Given the description of an element on the screen output the (x, y) to click on. 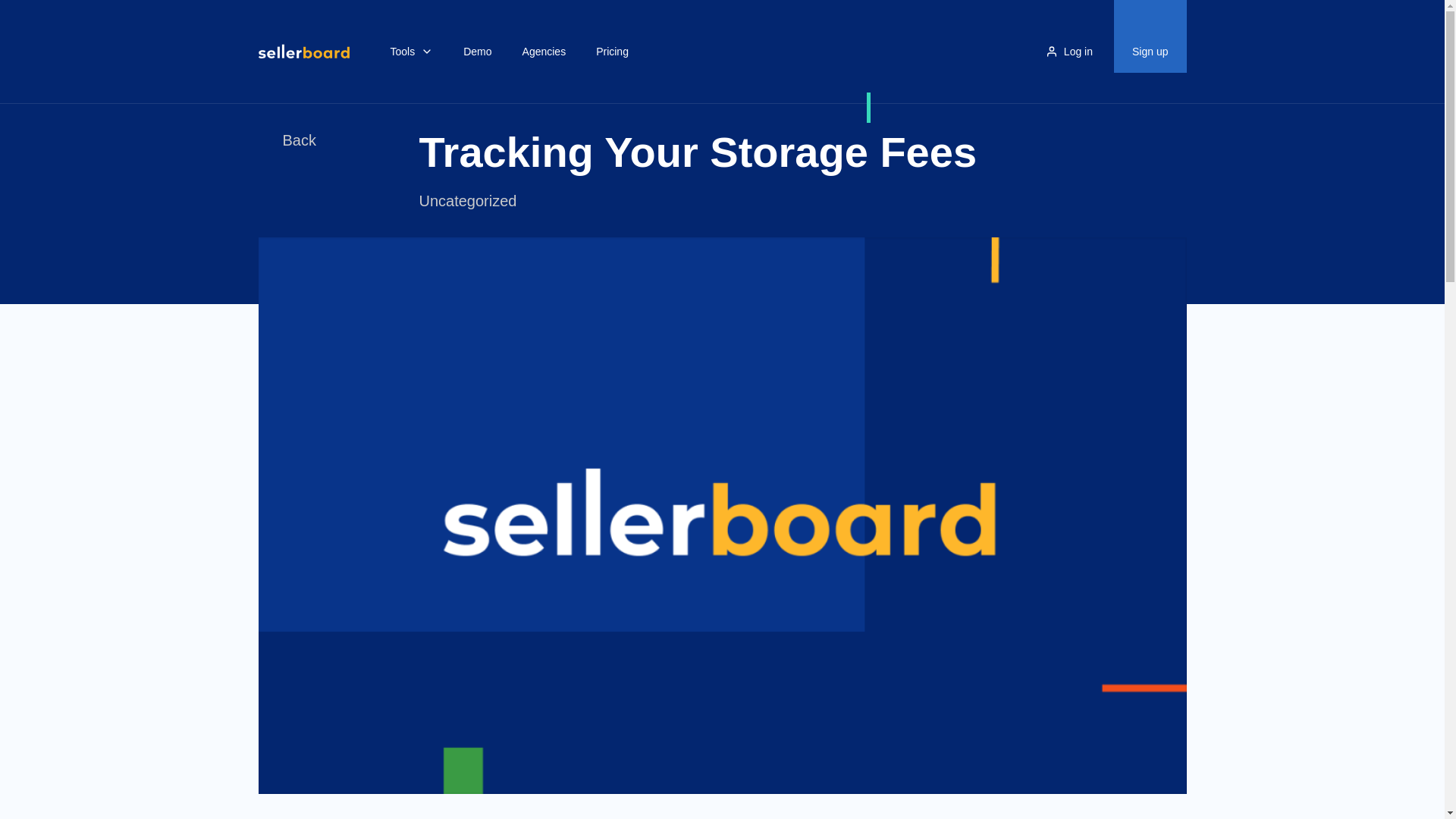
Demo (477, 51)
Log in (1069, 51)
Agencies (544, 51)
Tools (411, 51)
Back (286, 139)
Sign up (1149, 51)
Uncategorized (467, 200)
Pricing (611, 51)
